Given the description of an element on the screen output the (x, y) to click on. 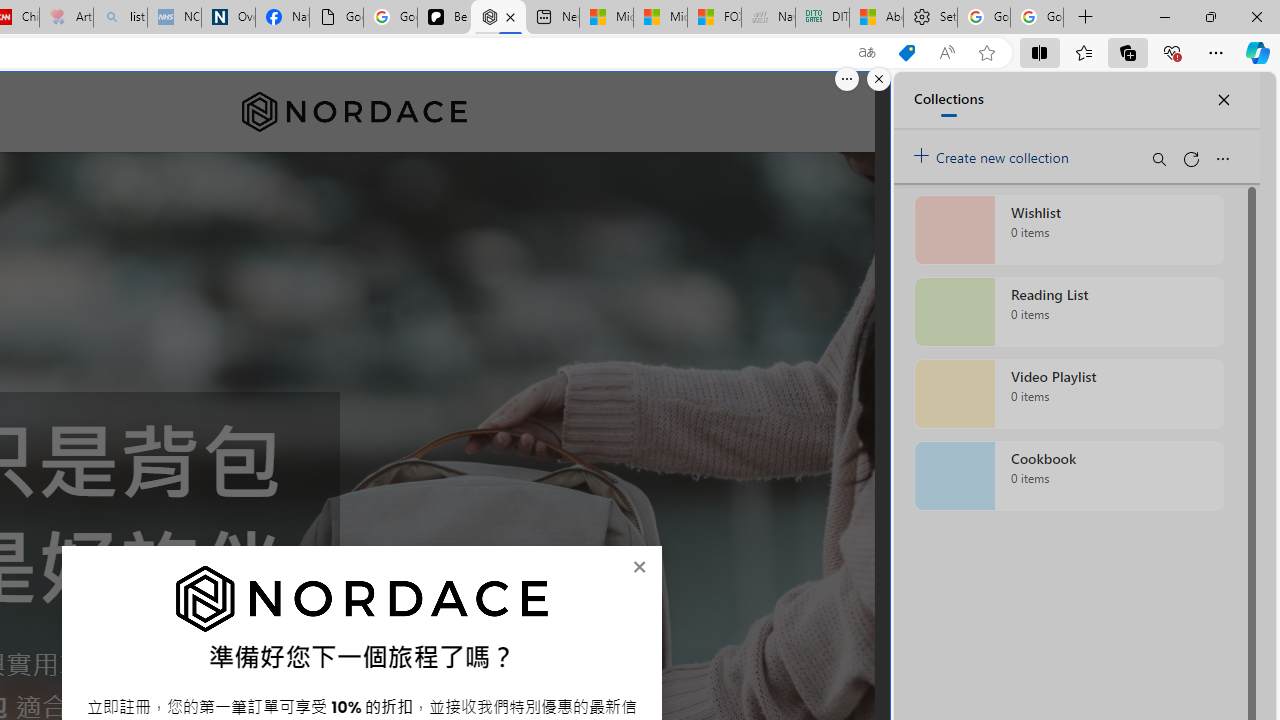
FOX News - MSN (714, 17)
Google Analytics Opt-out Browser Add-on Download Page (336, 17)
